Given the description of an element on the screen output the (x, y) to click on. 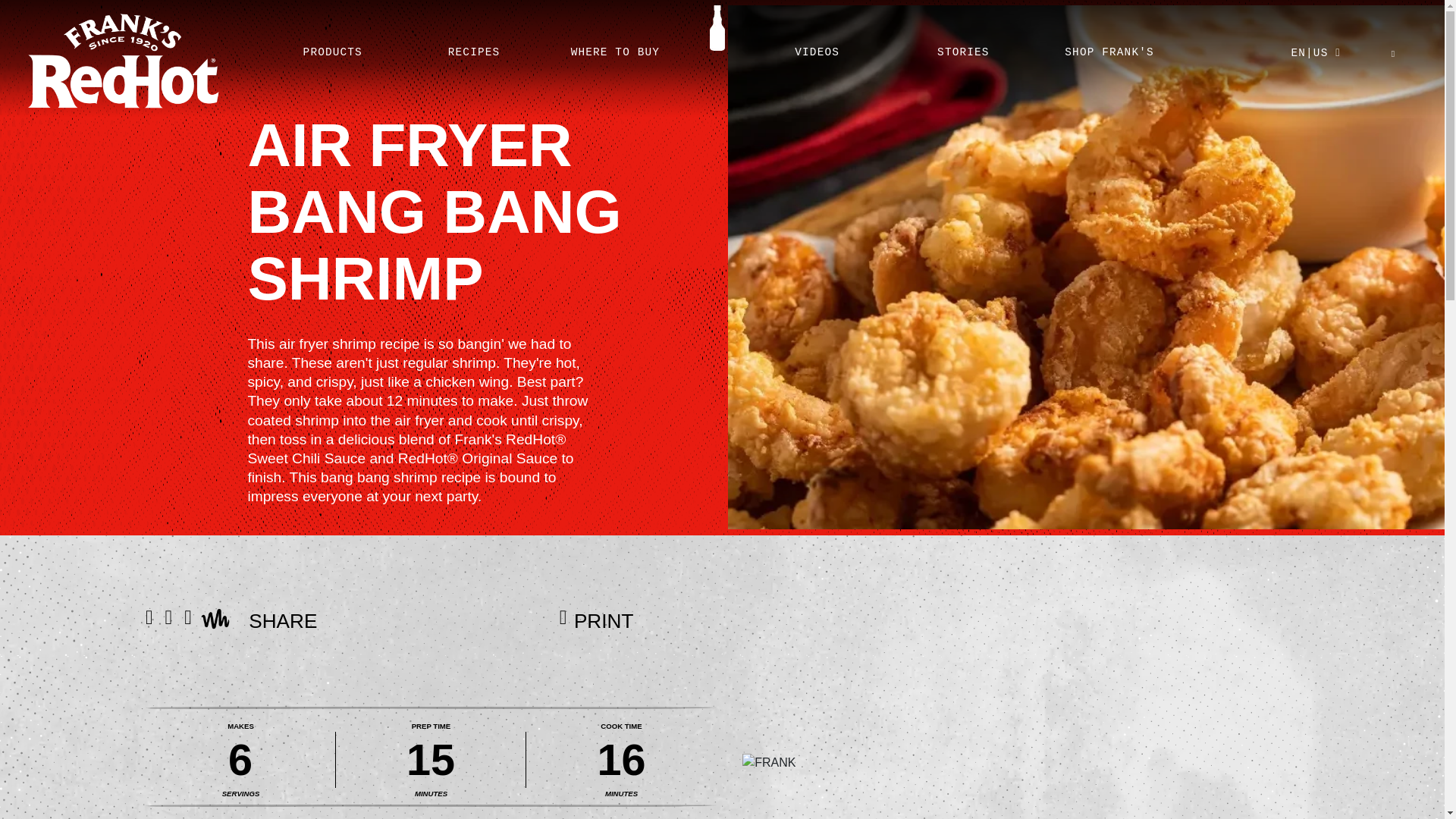
VIDEOS (816, 43)
Back to homepage (123, 60)
STORIES (962, 43)
Language selector (1315, 58)
PRODUCTS (332, 43)
Stories (962, 43)
RECIPES (473, 43)
WHERE TO BUY (614, 43)
PRINT (596, 628)
Whisk (215, 618)
